Given the description of an element on the screen output the (x, y) to click on. 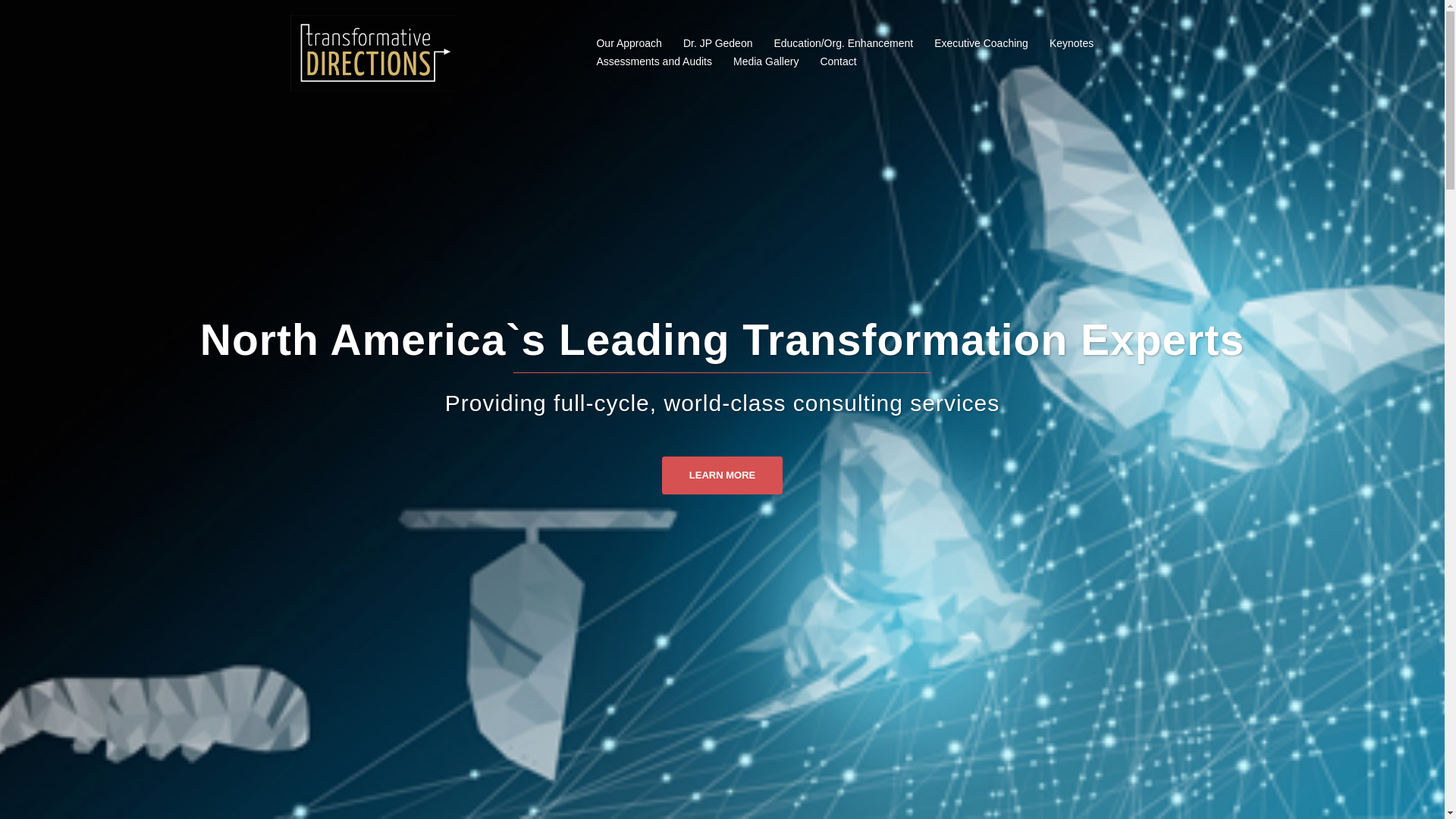
LEARN MORE (722, 475)
Dr. JP Gedeon (717, 44)
Executive Coaching (980, 44)
Assessments and Audits (653, 62)
Our Approach (628, 44)
Media Gallery (765, 62)
Transformative Directions (373, 51)
Keynotes (1071, 44)
Contact (837, 62)
